Given the description of an element on the screen output the (x, y) to click on. 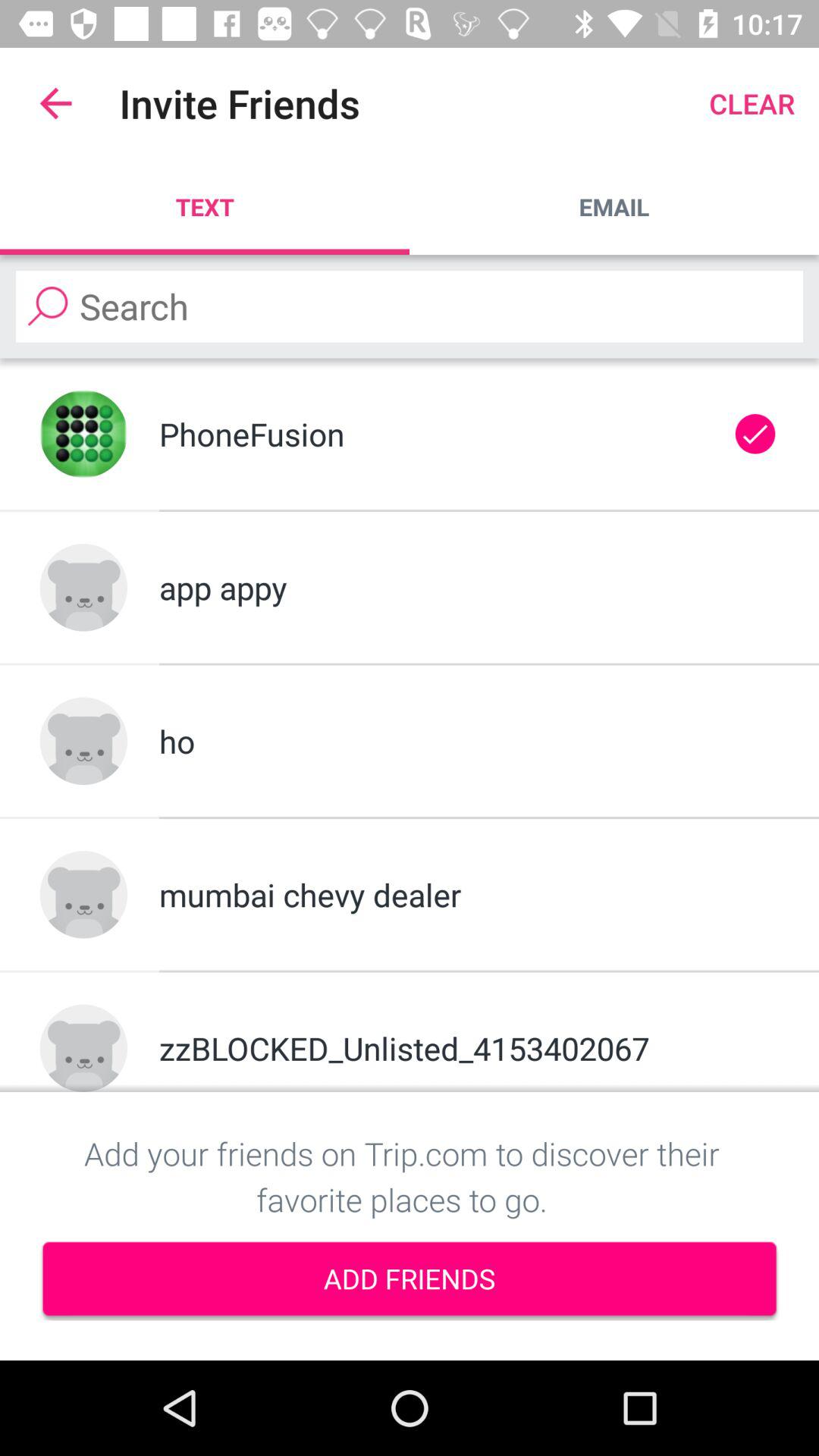
search for friends (409, 306)
